Given the description of an element on the screen output the (x, y) to click on. 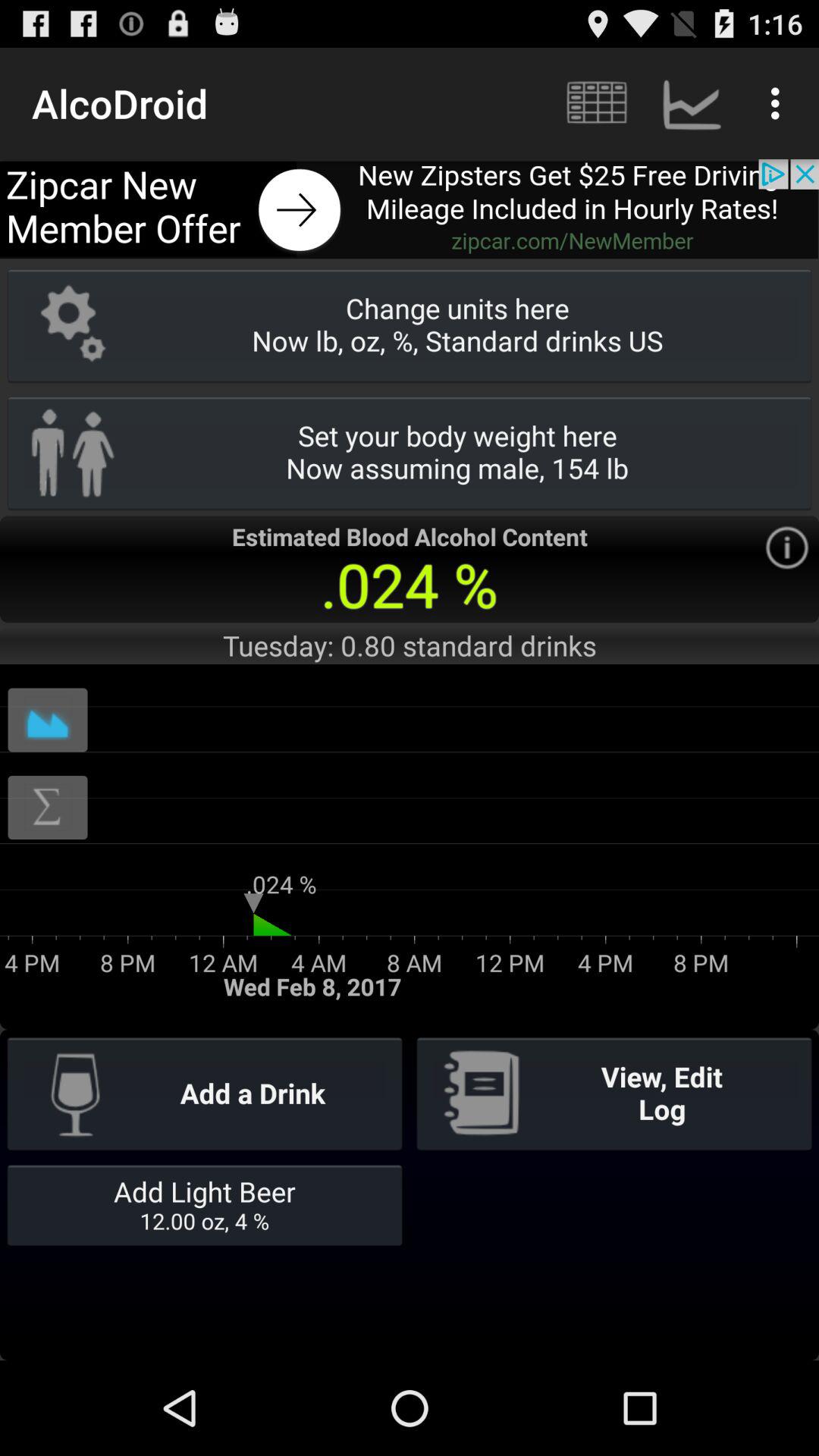
box (47, 719)
